Given the description of an element on the screen output the (x, y) to click on. 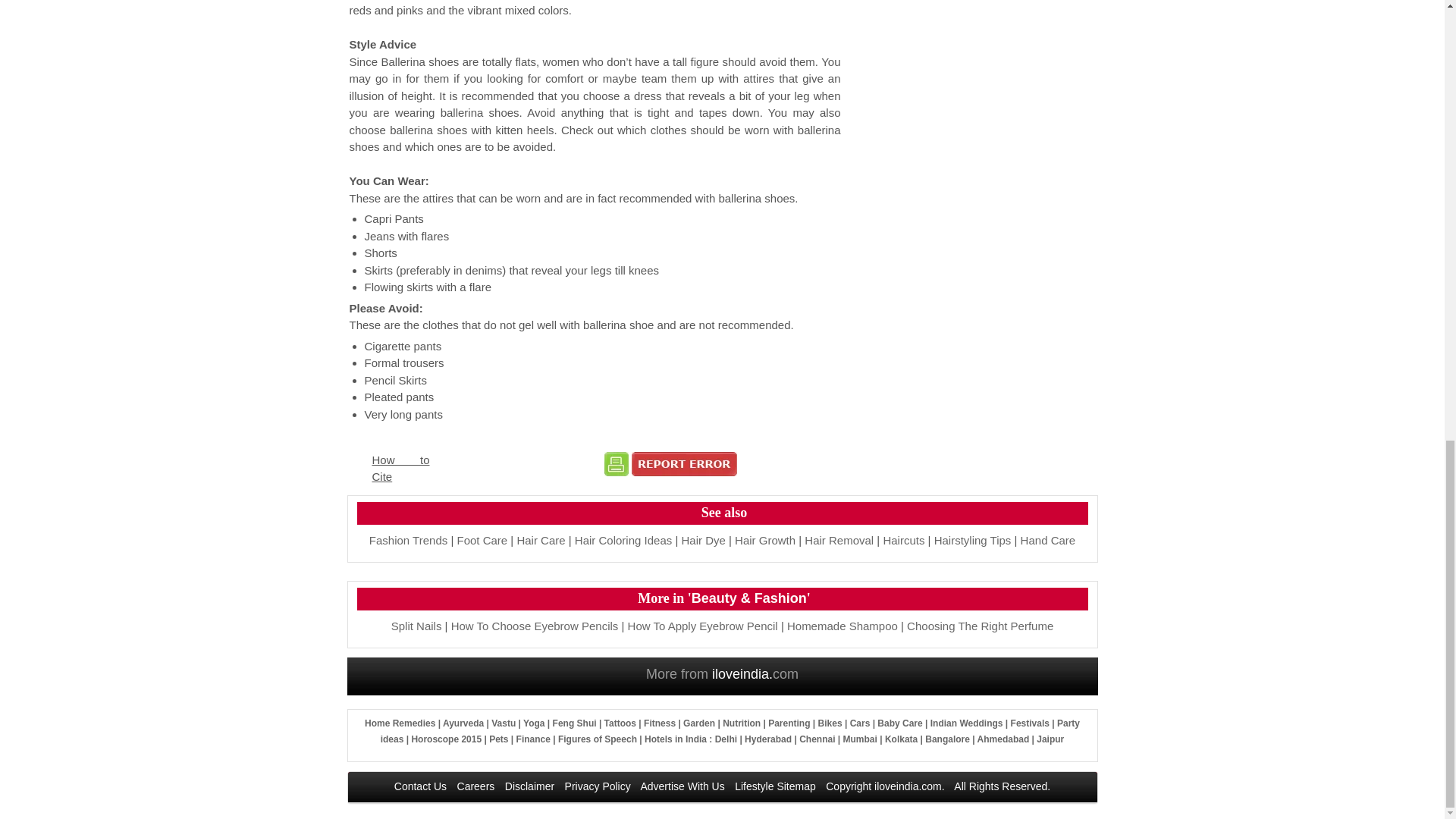
Hair Care (540, 540)
Hair Coloring Ideas (623, 540)
Hair Dye (703, 540)
Foot Care (481, 540)
Haircuts (903, 540)
Hair Growth (764, 540)
Hair Removal (839, 540)
Fashion Trends (407, 540)
